Given the description of an element on the screen output the (x, y) to click on. 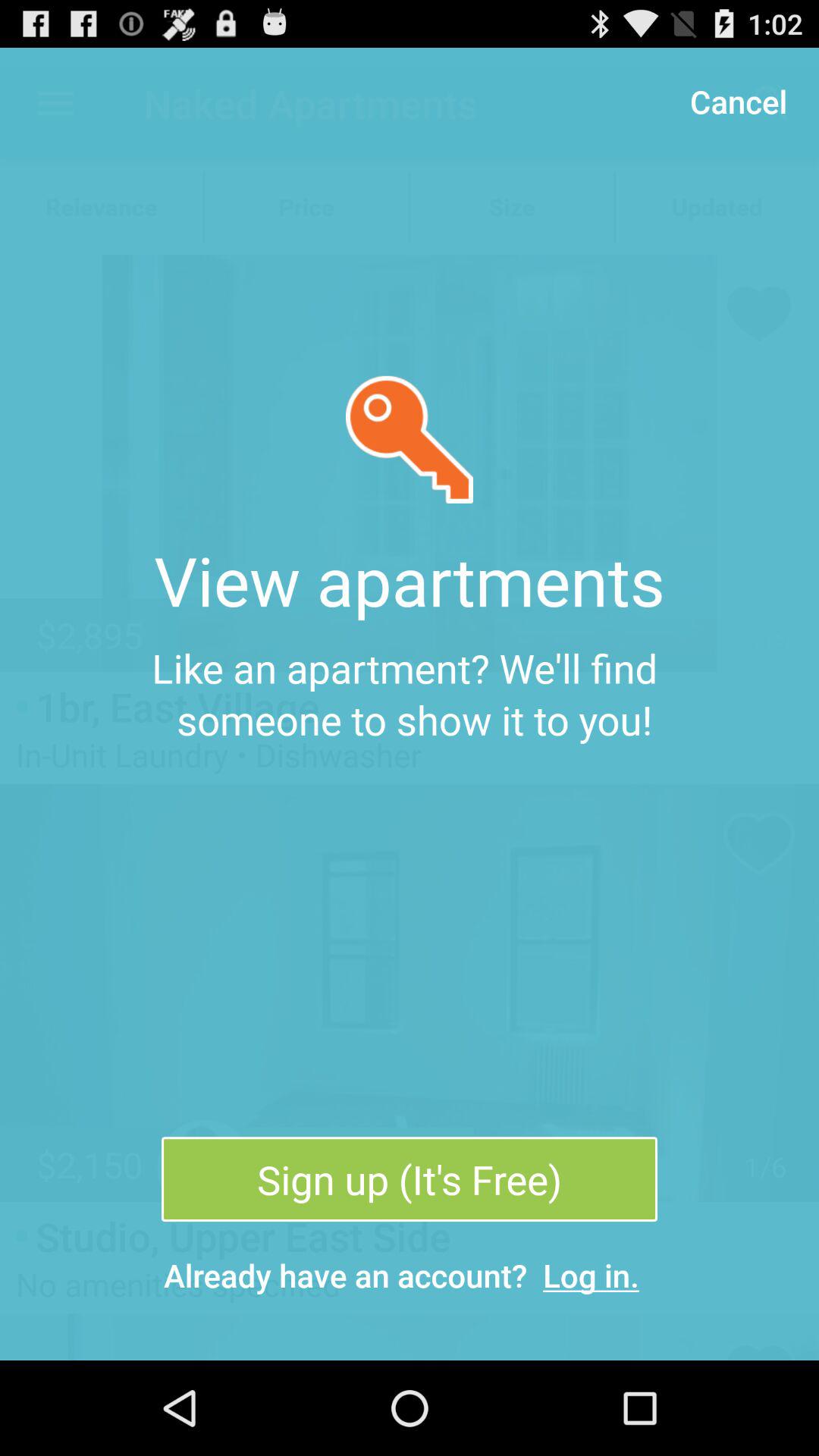
click sign up it icon (409, 1178)
